Given the description of an element on the screen output the (x, y) to click on. 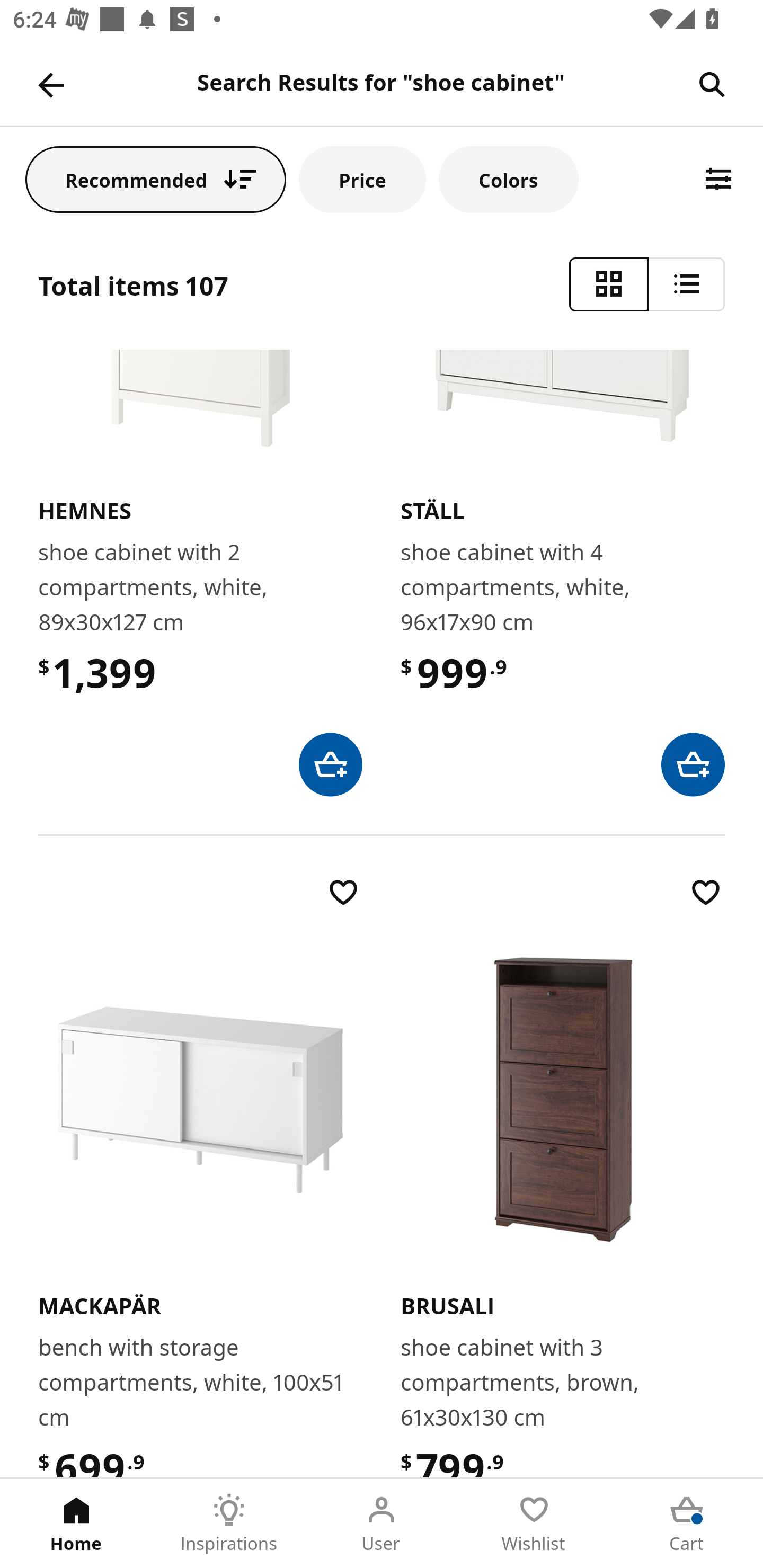
Recommended (155, 179)
Price (362, 179)
Colors (508, 179)
Home
Tab 1 of 5 (76, 1522)
Inspirations
Tab 2 of 5 (228, 1522)
User
Tab 3 of 5 (381, 1522)
Wishlist
Tab 4 of 5 (533, 1522)
Cart
Tab 5 of 5 (686, 1522)
